Given the description of an element on the screen output the (x, y) to click on. 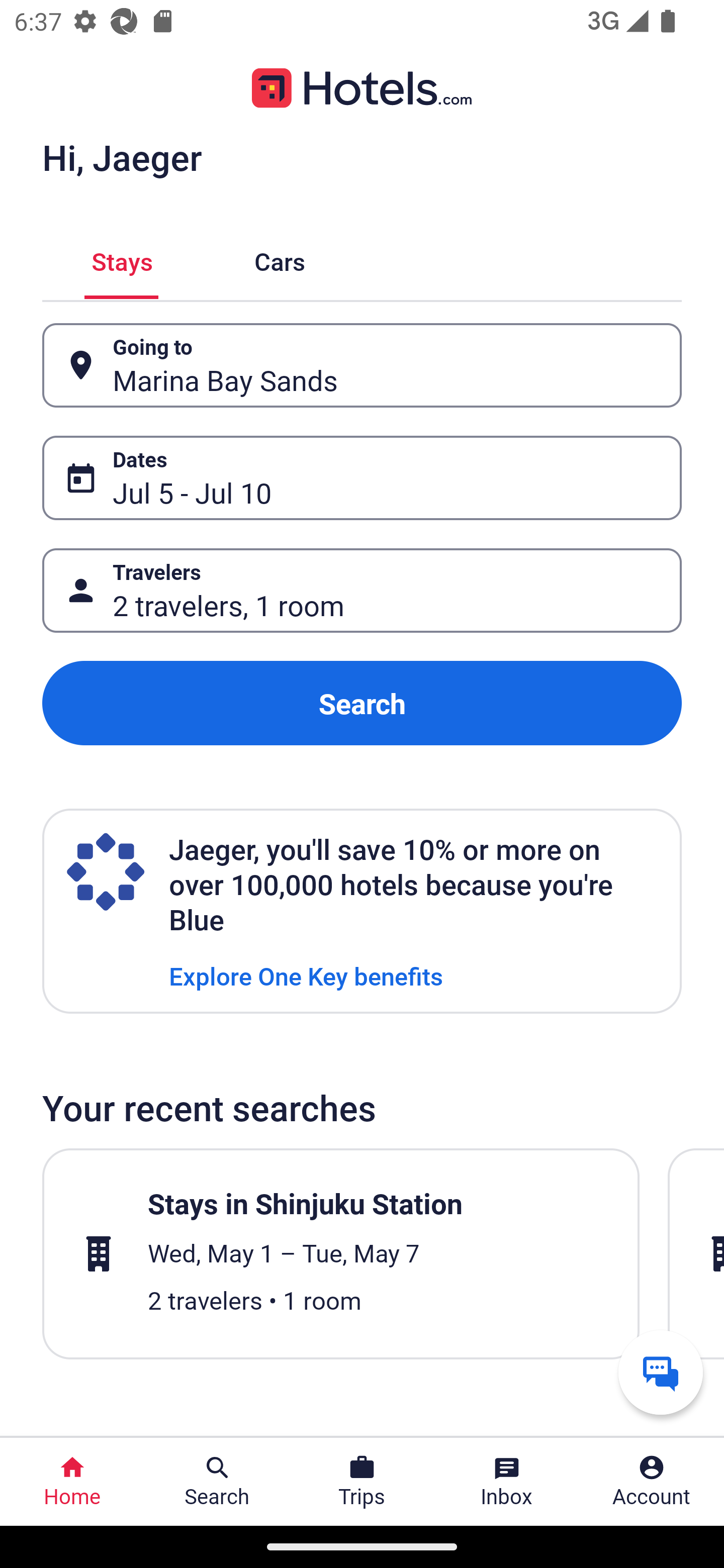
Hi, Jaeger (121, 156)
Cars (279, 259)
Going to Button Marina Bay Sands (361, 365)
Dates Button Jul 5 - Jul 10 (361, 477)
Travelers Button 2 travelers, 1 room (361, 590)
Search (361, 702)
Get help from a virtual agent (660, 1371)
Search Search Button (216, 1481)
Trips Trips Button (361, 1481)
Inbox Inbox Button (506, 1481)
Account Profile. Button (651, 1481)
